Given the description of an element on the screen output the (x, y) to click on. 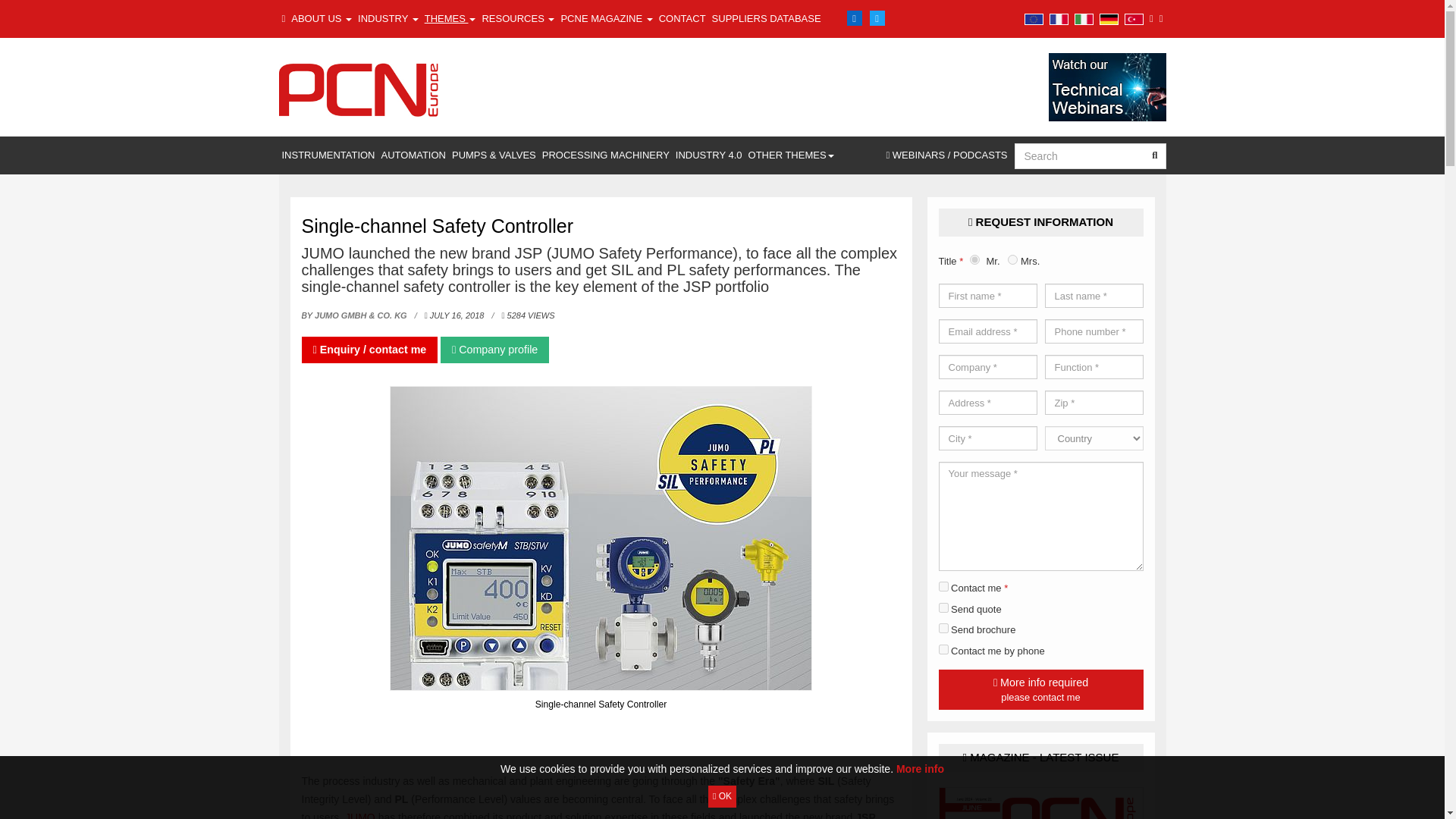
enquireForm.options.003 (944, 649)
More info (919, 768)
PCNE MAGAZINE (606, 18)
enquireForm.options.002 (944, 607)
Mr (974, 259)
1 (944, 586)
OK (721, 796)
ABOUT US (321, 18)
Themes (450, 18)
Mrs (1012, 259)
